Given the description of an element on the screen output the (x, y) to click on. 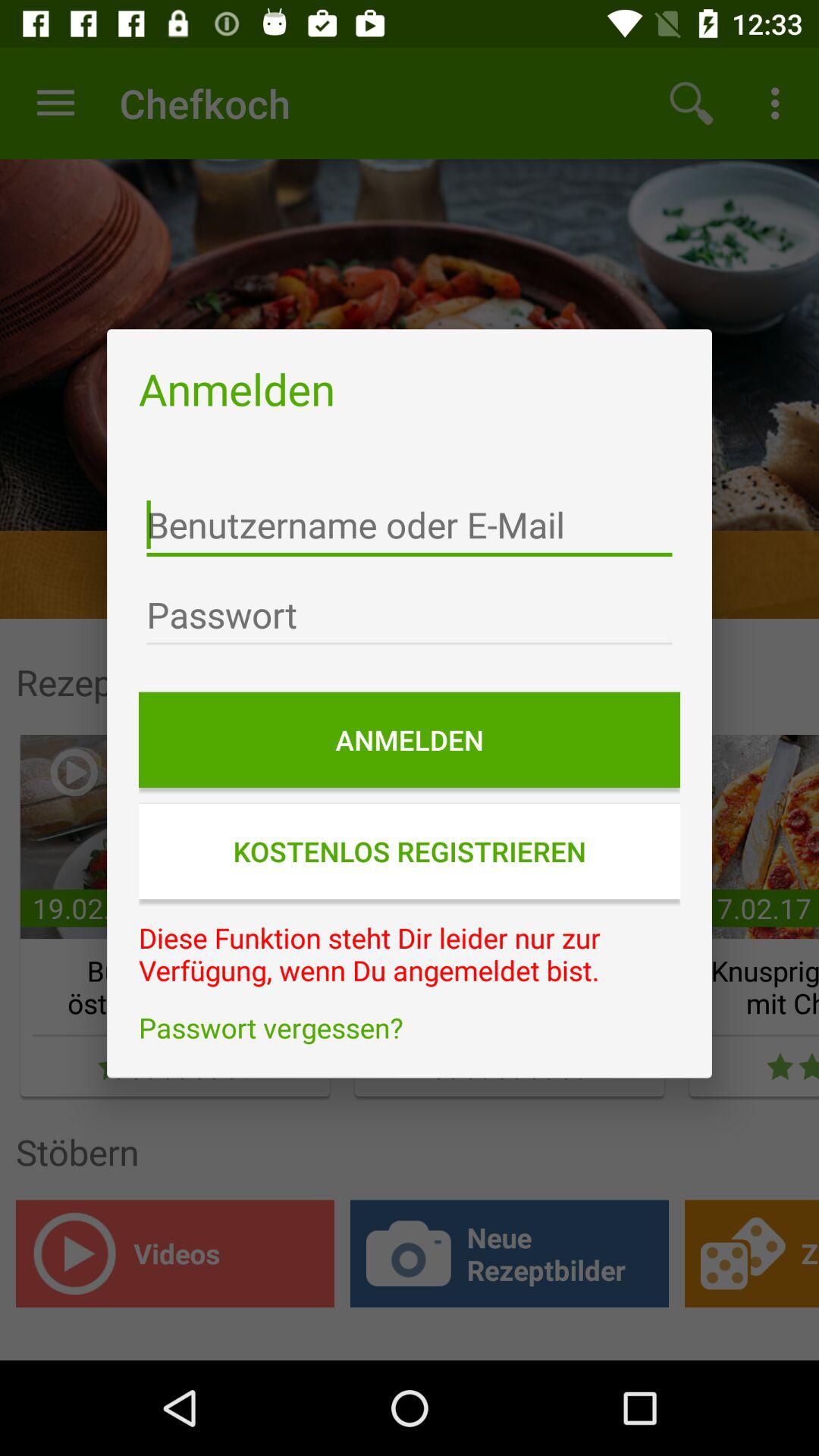
choose icon below diese funktion steht icon (409, 1027)
